Given the description of an element on the screen output the (x, y) to click on. 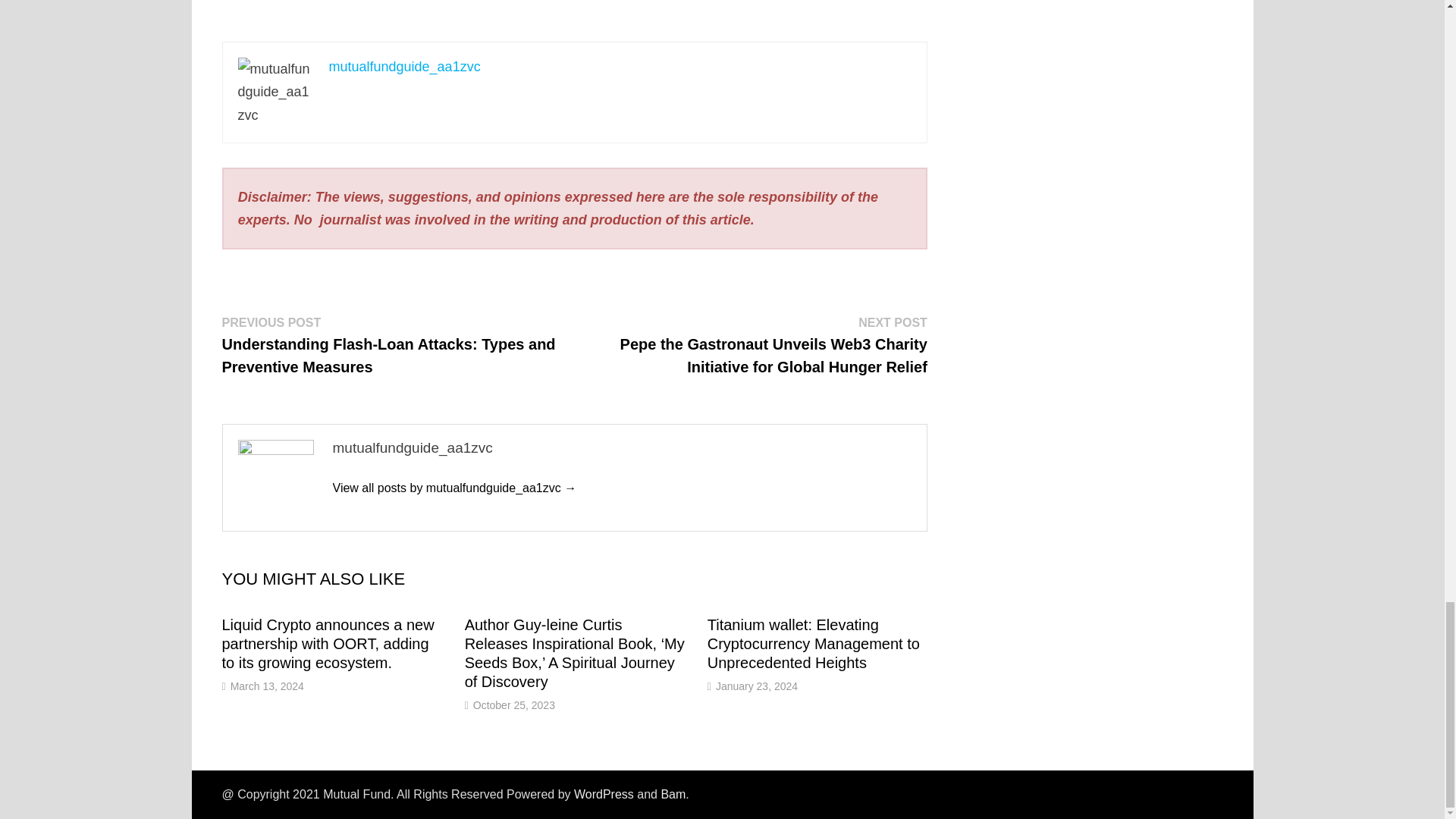
March 13, 2024 (267, 686)
